Given the description of an element on the screen output the (x, y) to click on. 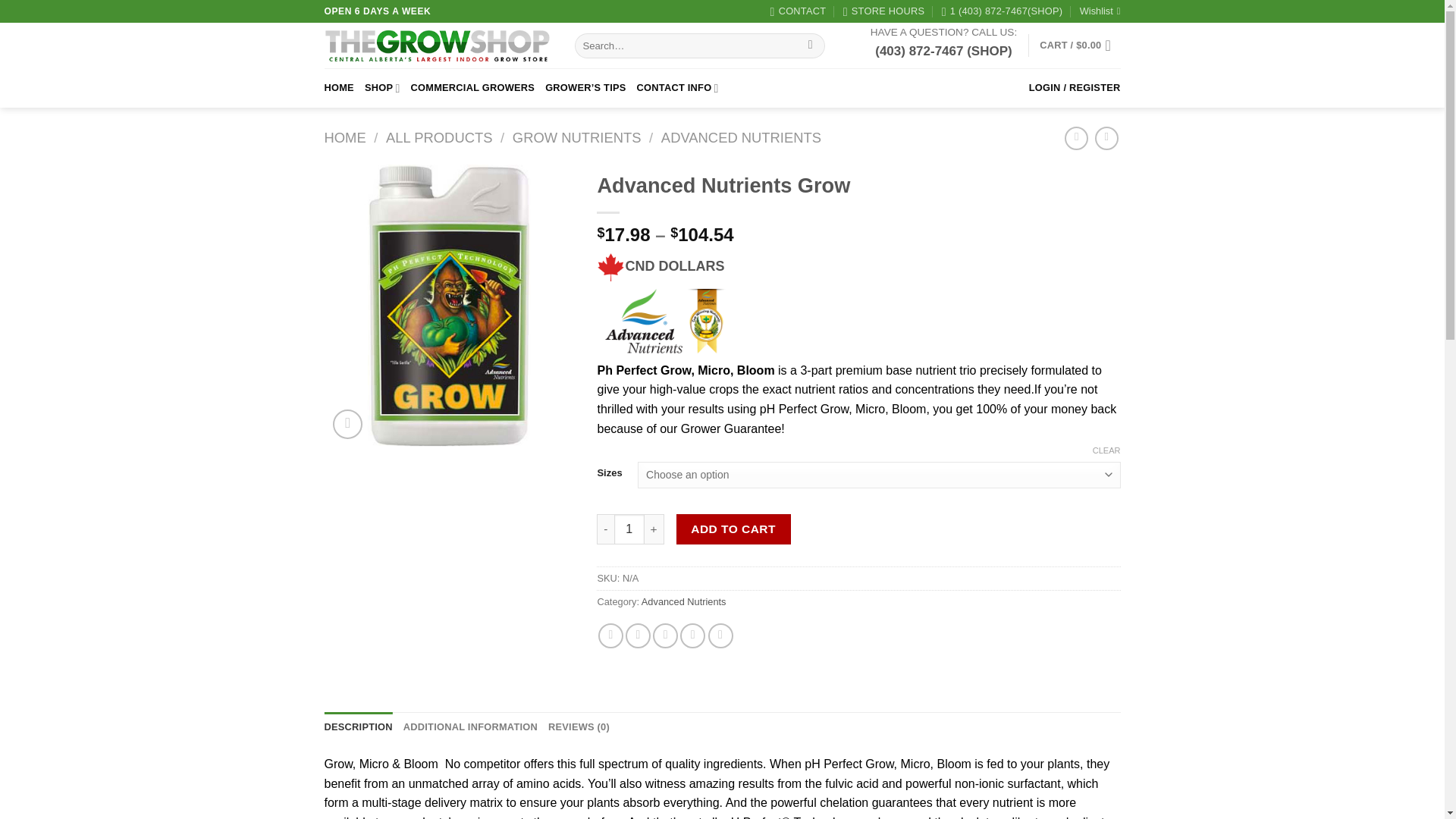
Share on LinkedIn (720, 635)
SHOP (382, 87)
Share on Facebook (610, 635)
Email to a Friend (665, 635)
1 (629, 529)
Share on Twitter (638, 635)
Wishlist (1100, 11)
CONTACT (798, 11)
Wishlist (1100, 11)
Pin on Pinterest (691, 635)
